Given the description of an element on the screen output the (x, y) to click on. 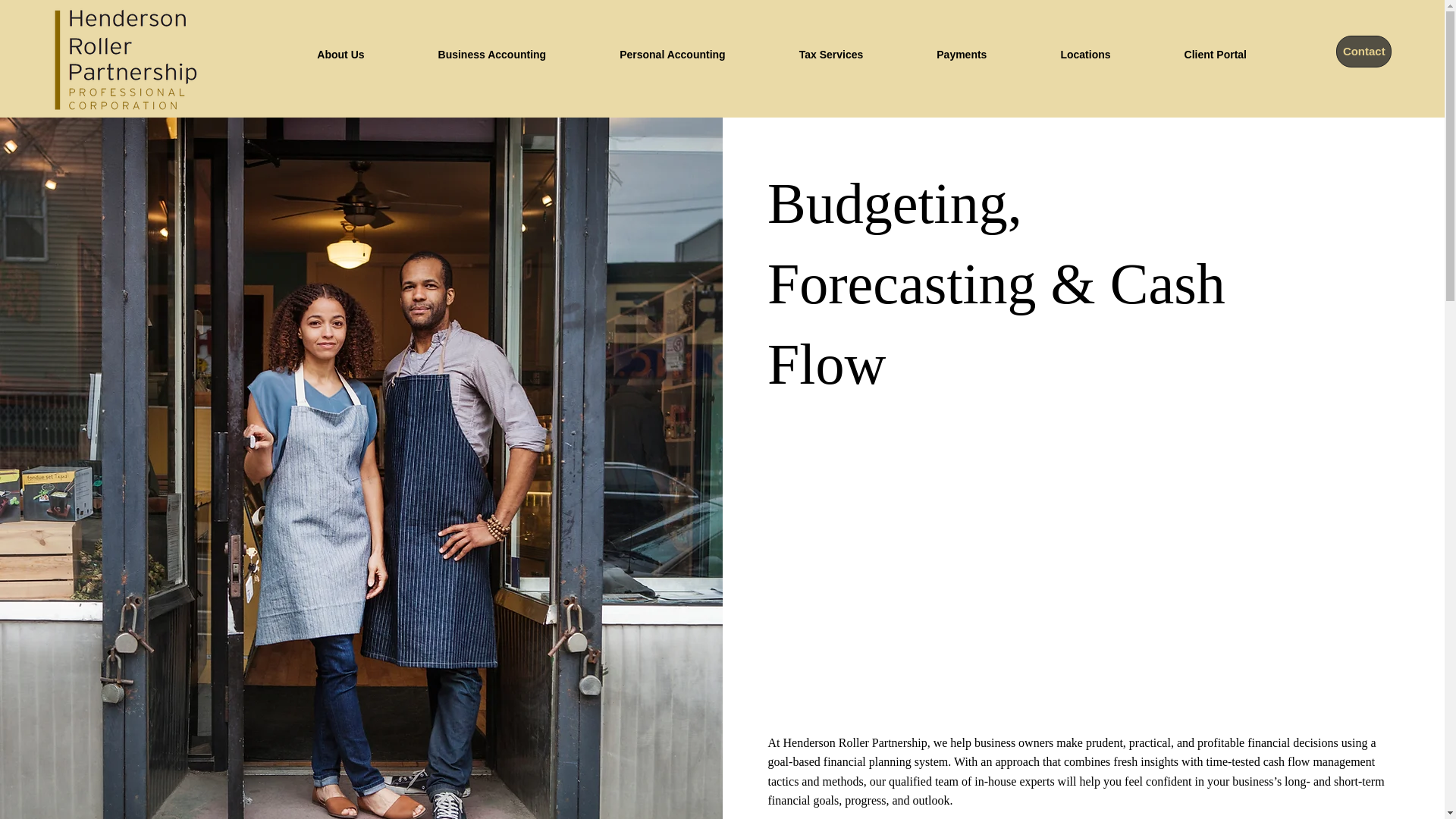
Business Accounting (491, 54)
Contact (1363, 51)
Tax Services (830, 54)
Payments (961, 54)
Client Portal (1214, 54)
